Given the description of an element on the screen output the (x, y) to click on. 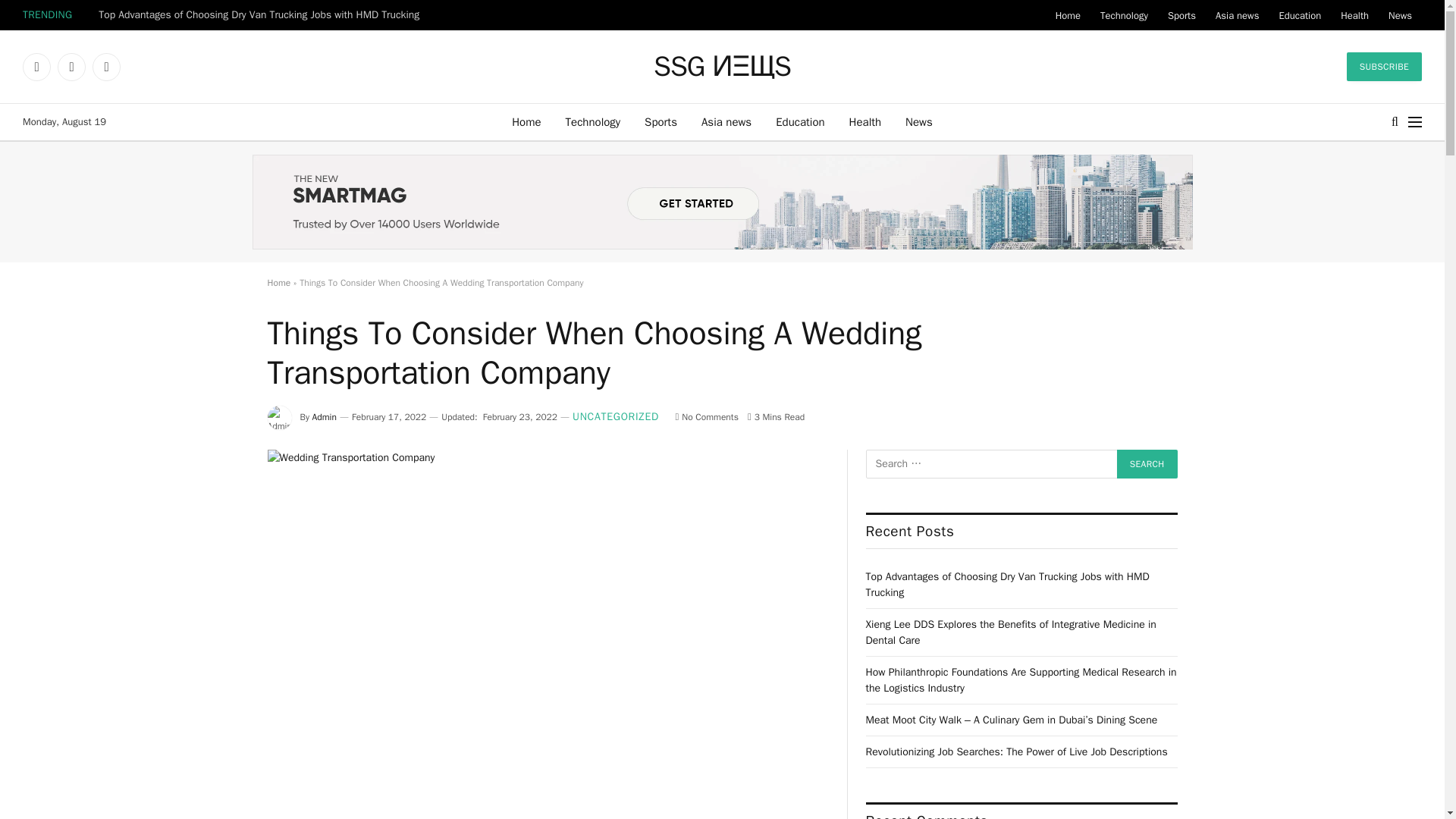
Education (798, 122)
Technology (1123, 15)
Asia news (725, 122)
Facebook (36, 67)
Posts by Admin (324, 417)
Search (1146, 463)
Education (1299, 15)
Sports (1181, 15)
Instagram (106, 67)
